Given the description of an element on the screen output the (x, y) to click on. 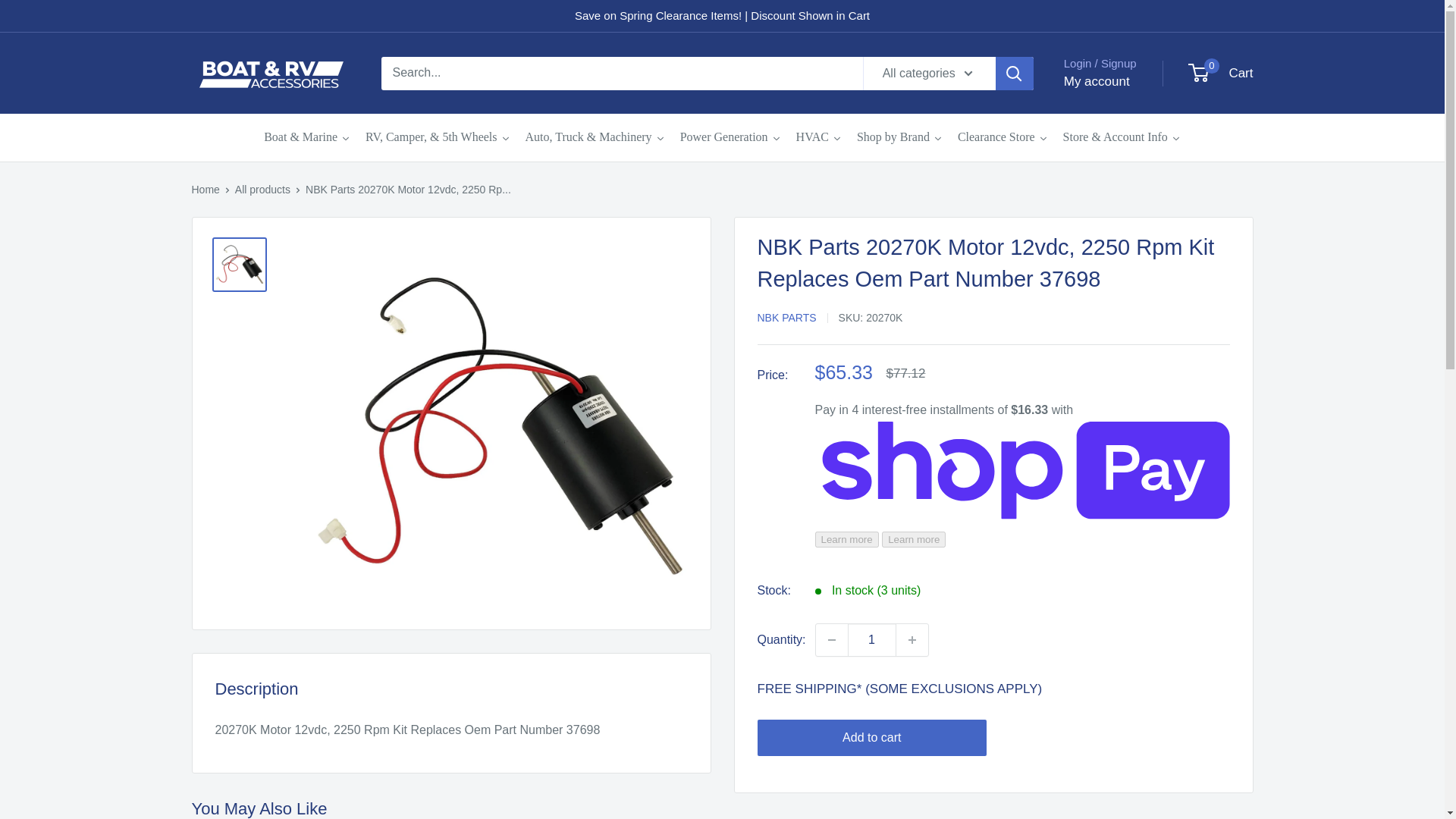
Clearance Store (1002, 137)
Decrease quantity by 1 (831, 640)
Shop by Brand (899, 137)
Increase quantity by 1 (912, 640)
HVAC (818, 137)
Power Generation (730, 137)
1 (871, 640)
